Given the description of an element on the screen output the (x, y) to click on. 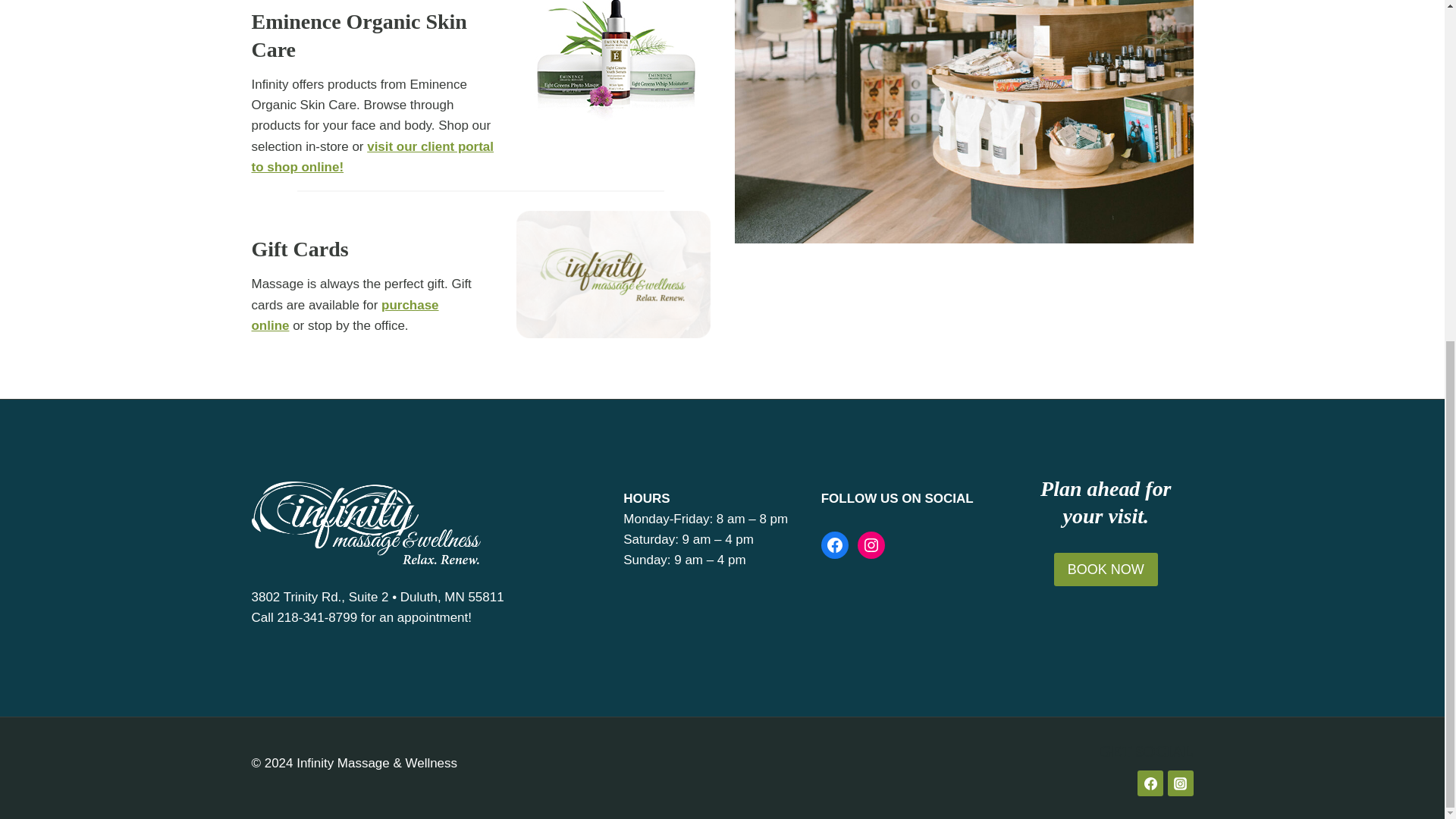
visit our client portal to shop online! (373, 156)
Instagram (871, 544)
purchase online (345, 315)
Facebook (834, 544)
